Given the description of an element on the screen output the (x, y) to click on. 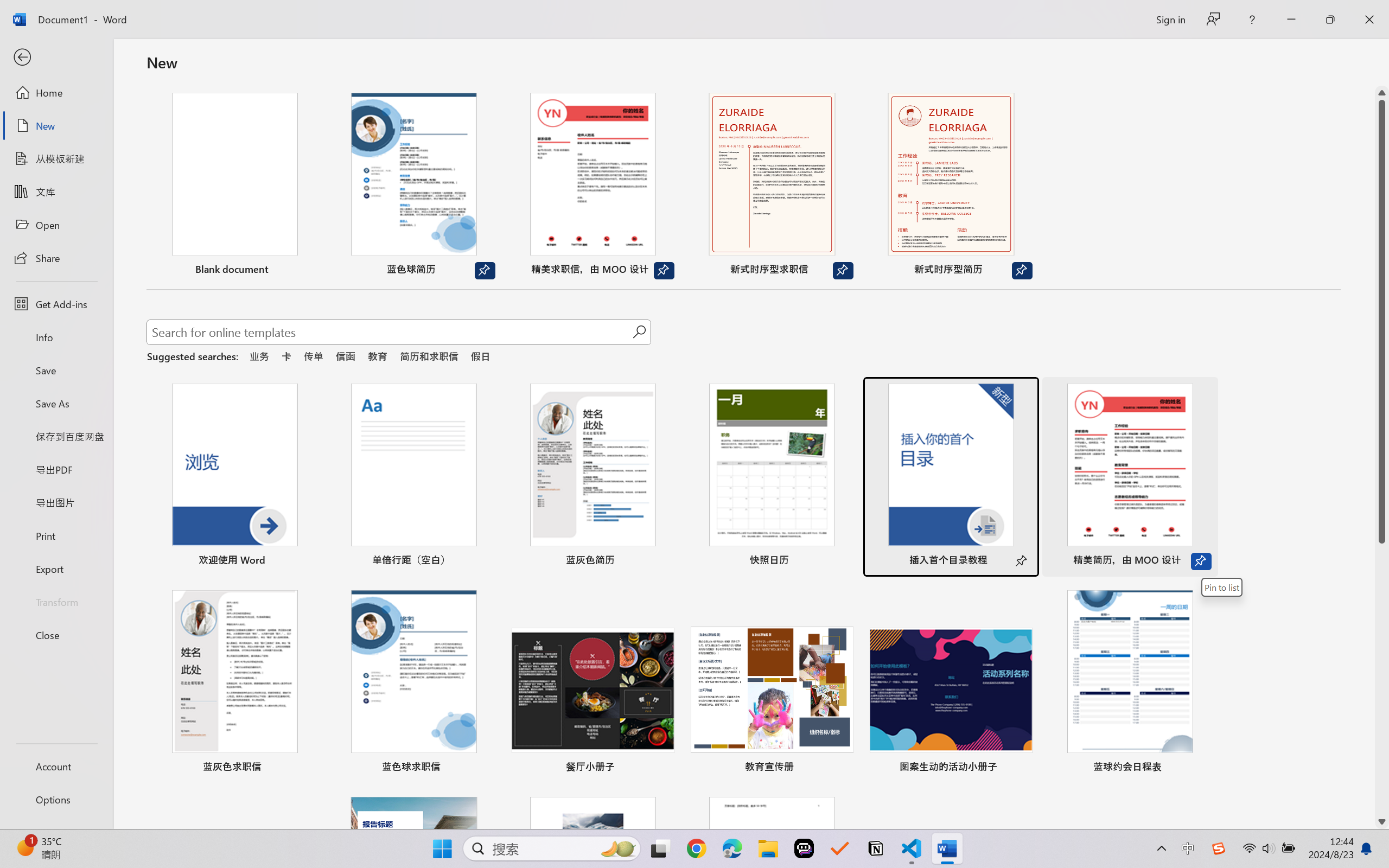
Print (56, 535)
New (56, 125)
Transform (56, 601)
Blank document (234, 185)
